Given the description of an element on the screen output the (x, y) to click on. 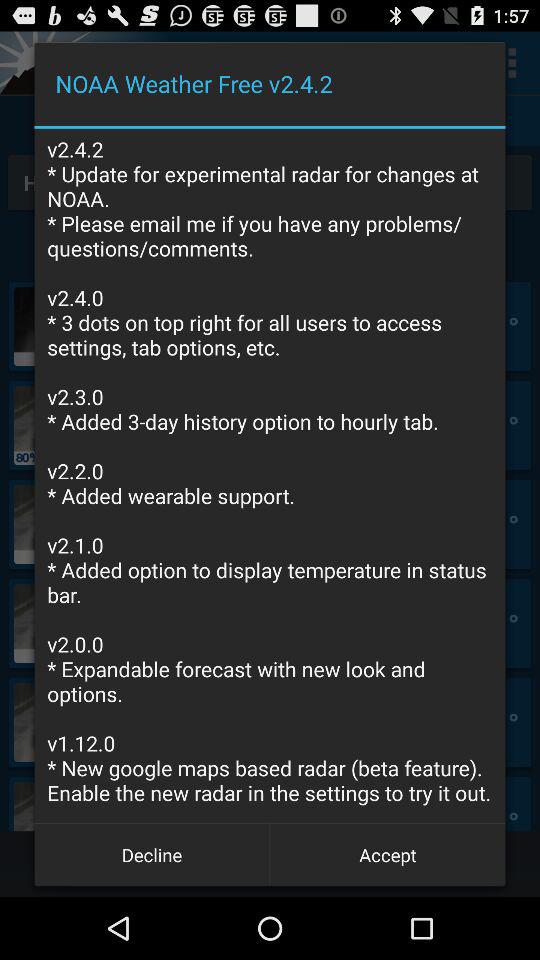
tap button next to decline button (387, 854)
